Given the description of an element on the screen output the (x, y) to click on. 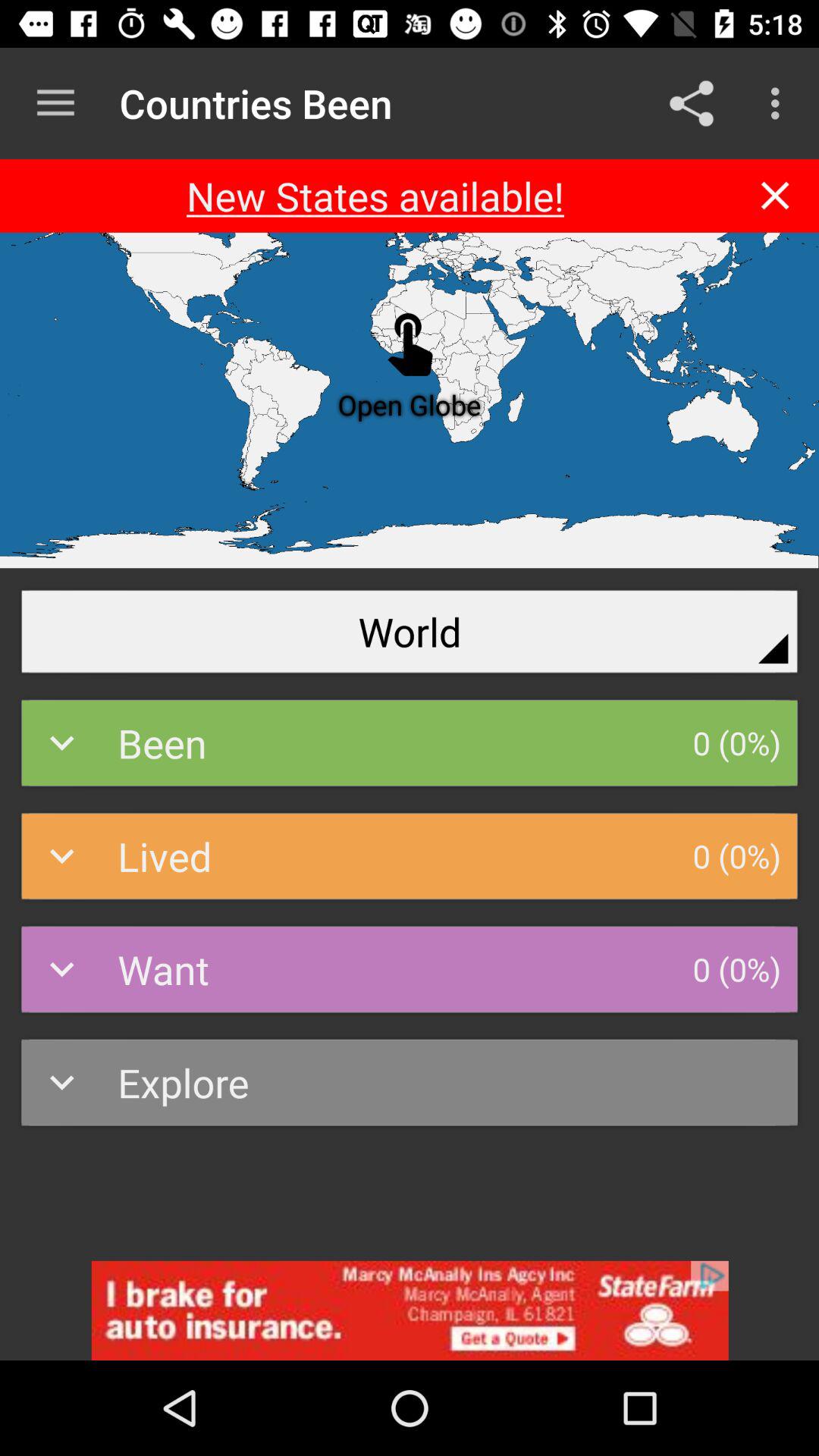
close notification (775, 195)
